Given the description of an element on the screen output the (x, y) to click on. 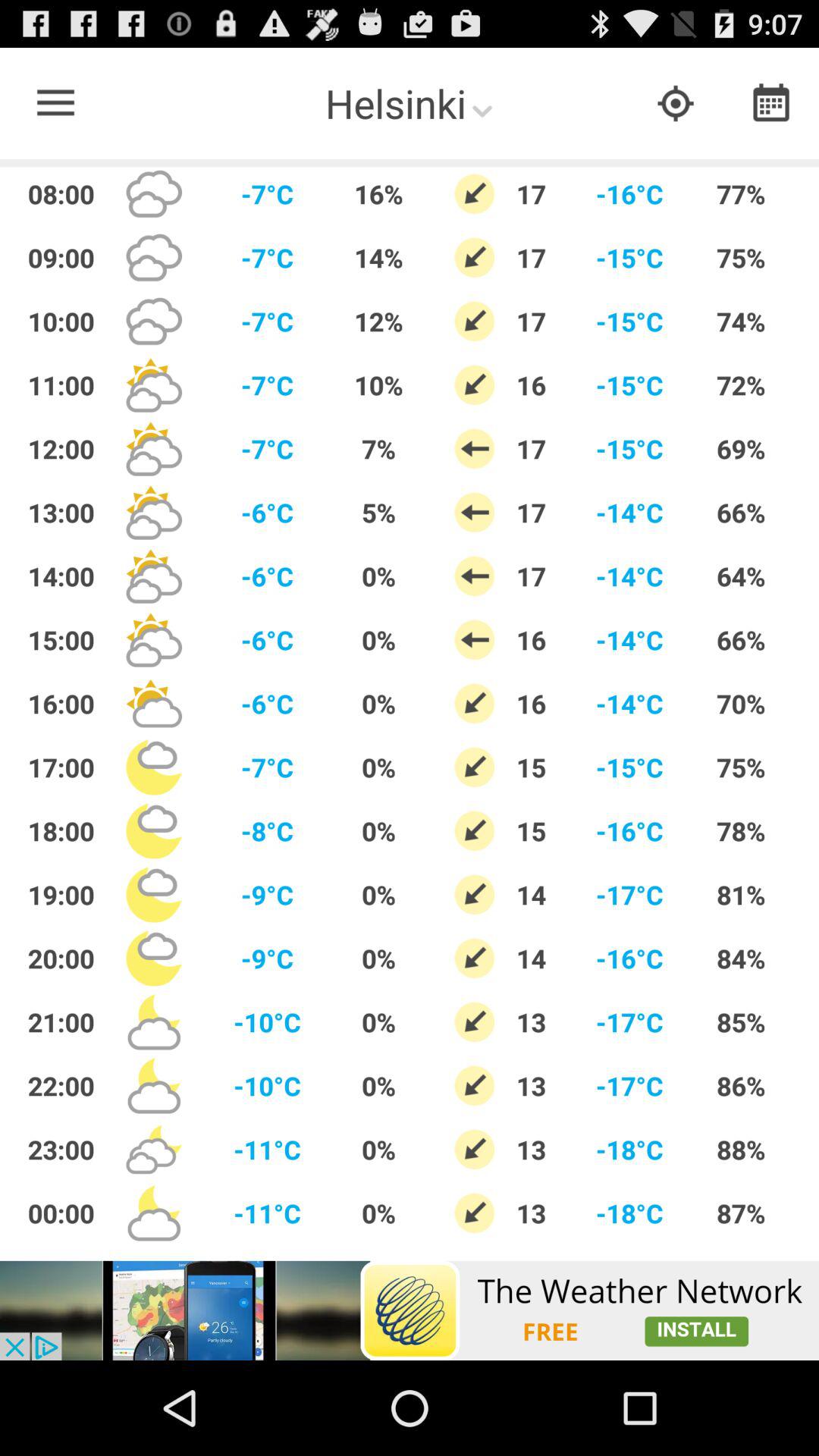
select the 3rd circular shaped image from the bottom side of the web page (474, 1085)
